Given the description of an element on the screen output the (x, y) to click on. 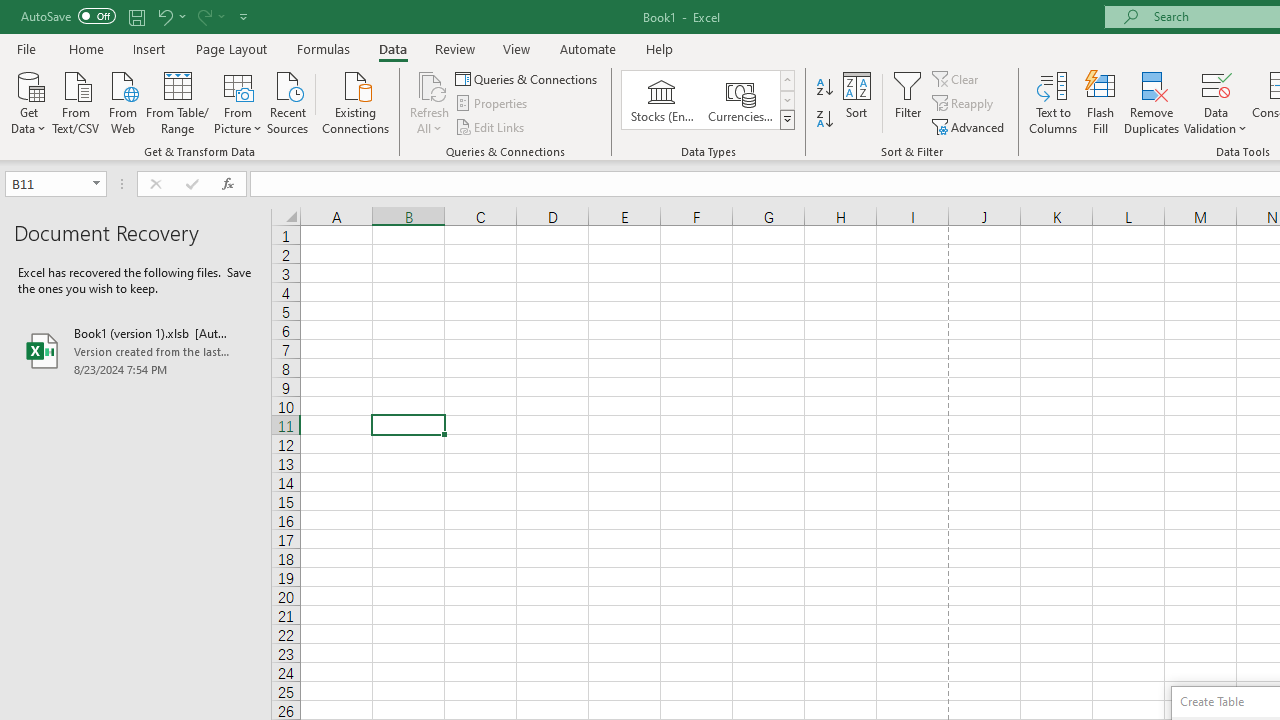
Filter (908, 102)
Flash Fill (1101, 102)
Existing Connections (355, 101)
Properties (492, 103)
Data Types (786, 120)
Sort A to Z (824, 87)
